Given the description of an element on the screen output the (x, y) to click on. 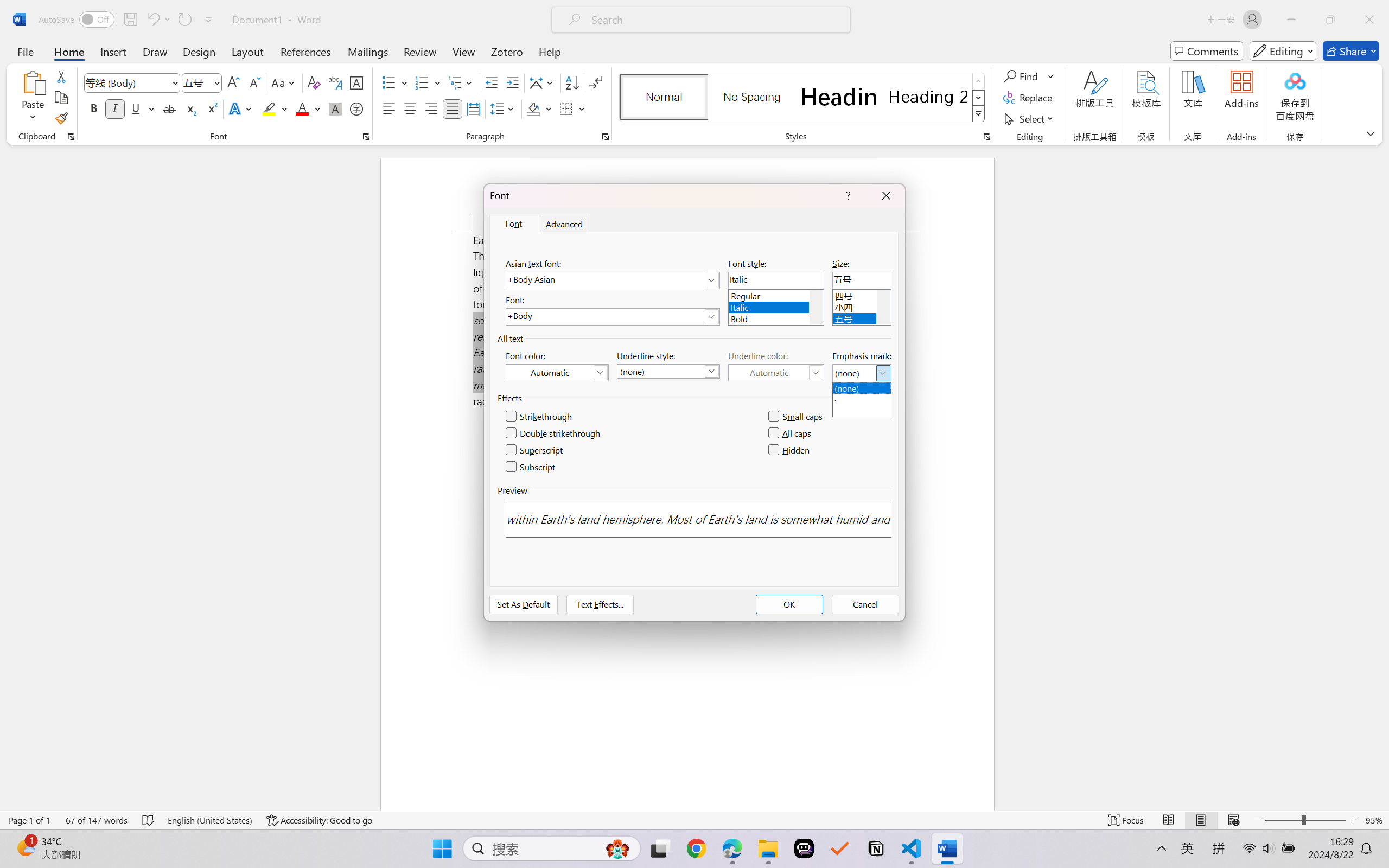
Undo Italic (152, 19)
Font Color Red (302, 108)
Microsoft search (715, 19)
Enclose Characters... (356, 108)
Subscript (190, 108)
Cancel (865, 603)
Google Chrome (696, 848)
Font... (365, 136)
Bold (775, 316)
